Given the description of an element on the screen output the (x, y) to click on. 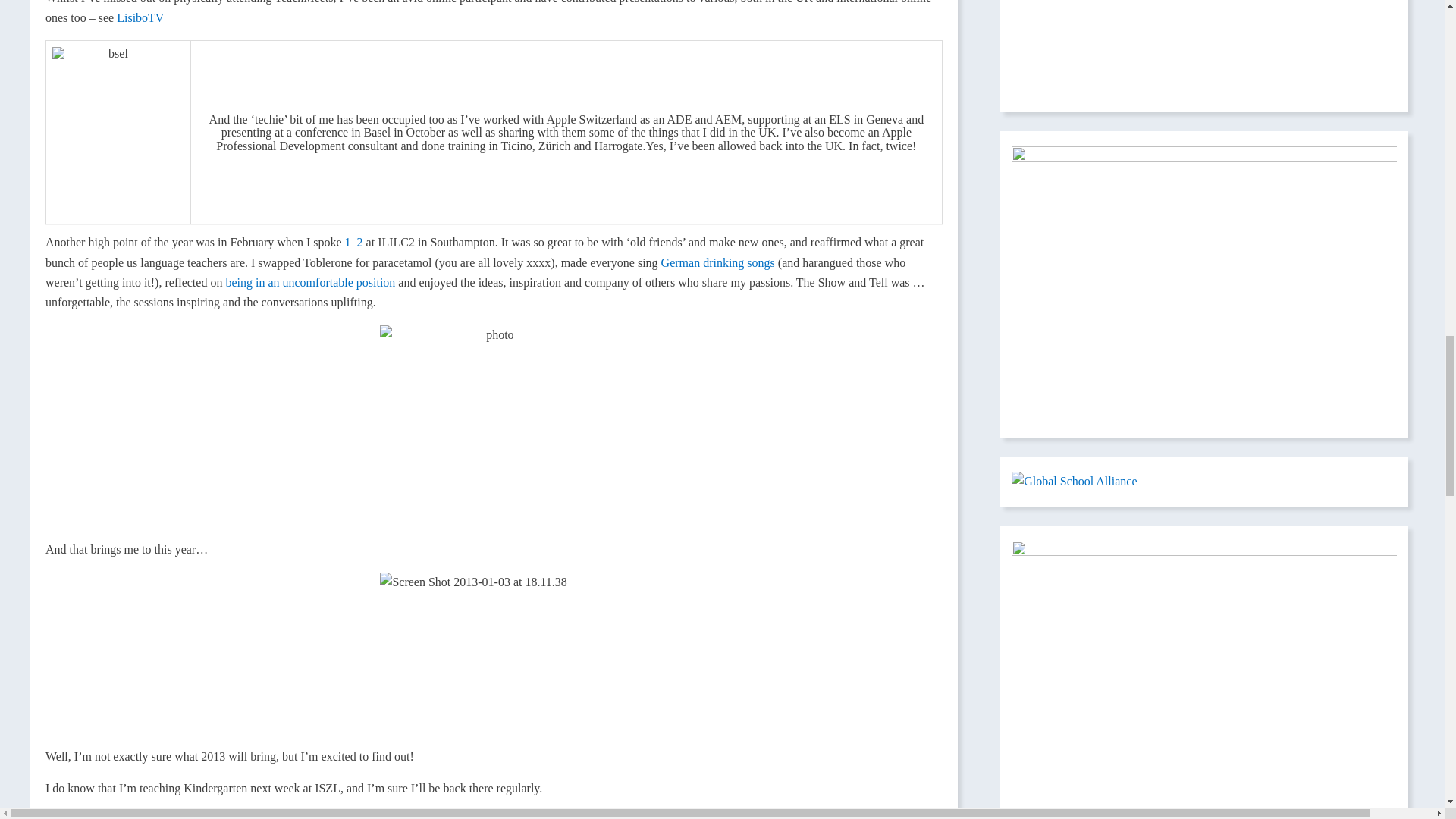
LisiboTV (139, 17)
German drinking songs (719, 262)
being in an uncomfortable position (309, 282)
